Given the description of an element on the screen output the (x, y) to click on. 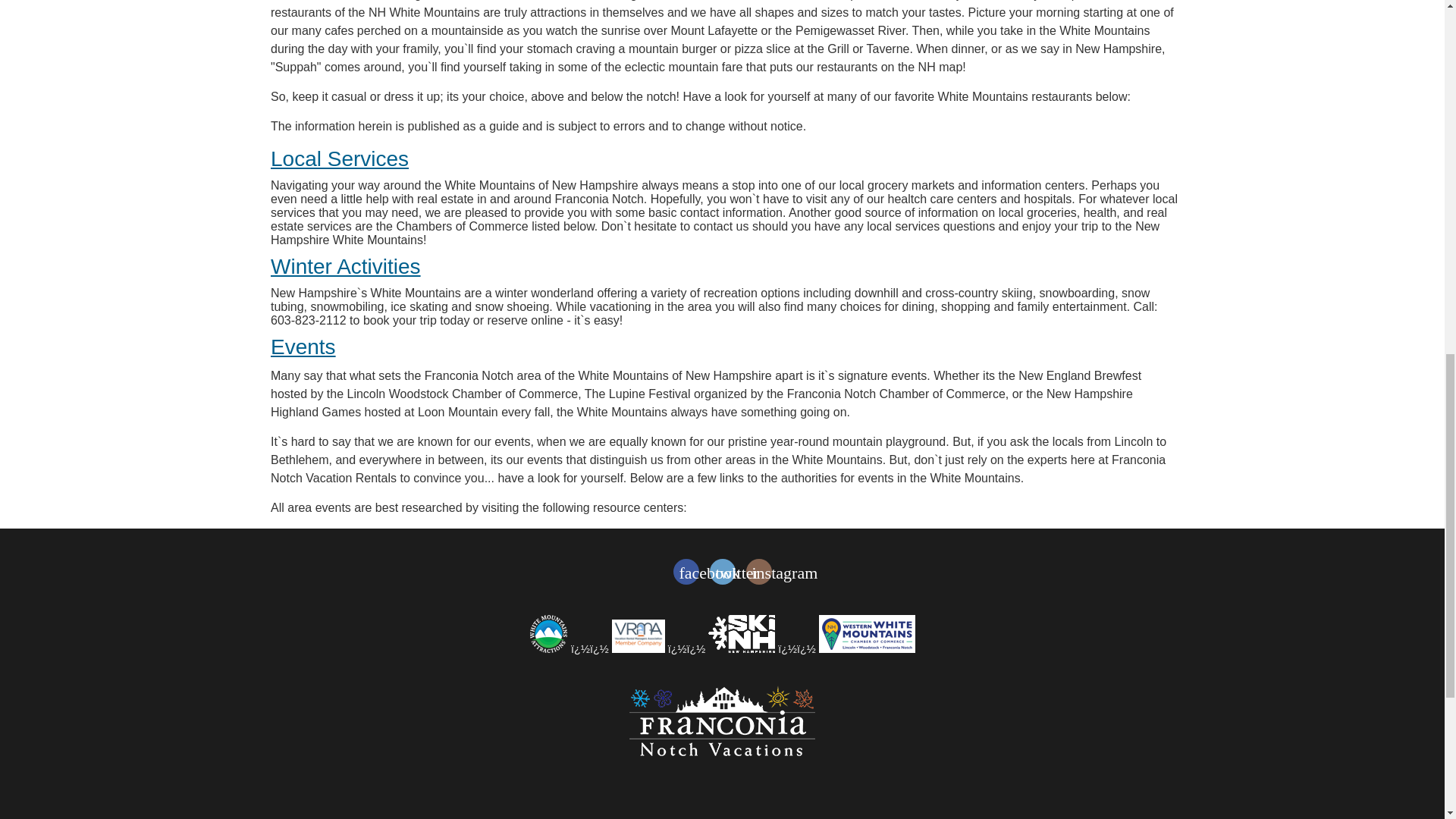
Winter Activities (345, 266)
Weather: Franconia, NH (722, 804)
Local Services (339, 158)
Events (303, 346)
instagram (758, 571)
facebook (685, 571)
twitter (722, 571)
